Given the description of an element on the screen output the (x, y) to click on. 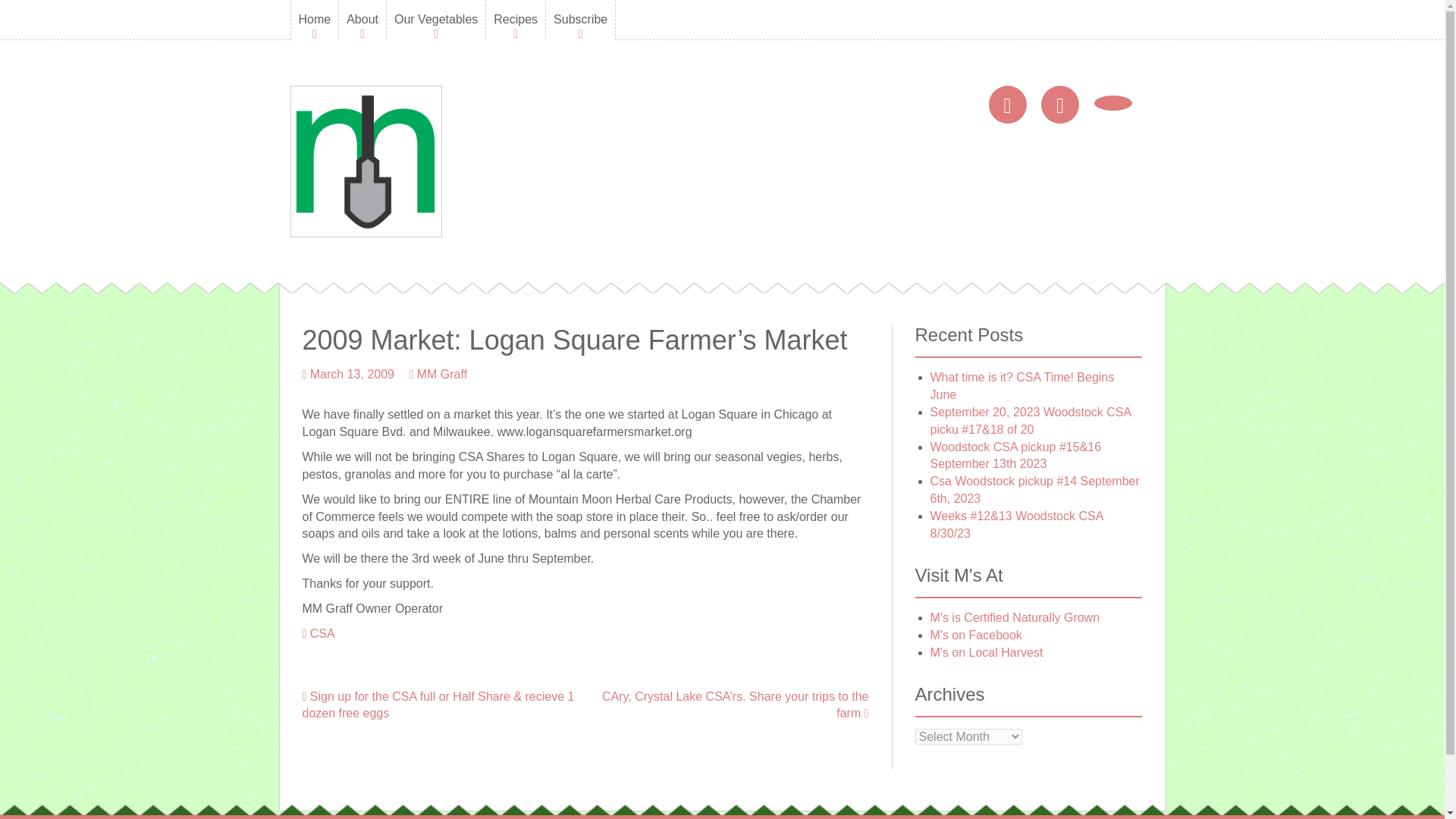
Our Vegetables (435, 19)
March 13, 2009 (352, 373)
Home (314, 19)
M's on Facebook (976, 634)
M's is Certified Naturally Grown (1014, 617)
Subscribe (580, 19)
Recipes (515, 19)
What time is it? CSA Time! Begins June (1021, 386)
M's on Local Harvest (986, 652)
MM Graff (441, 373)
